Given the description of an element on the screen output the (x, y) to click on. 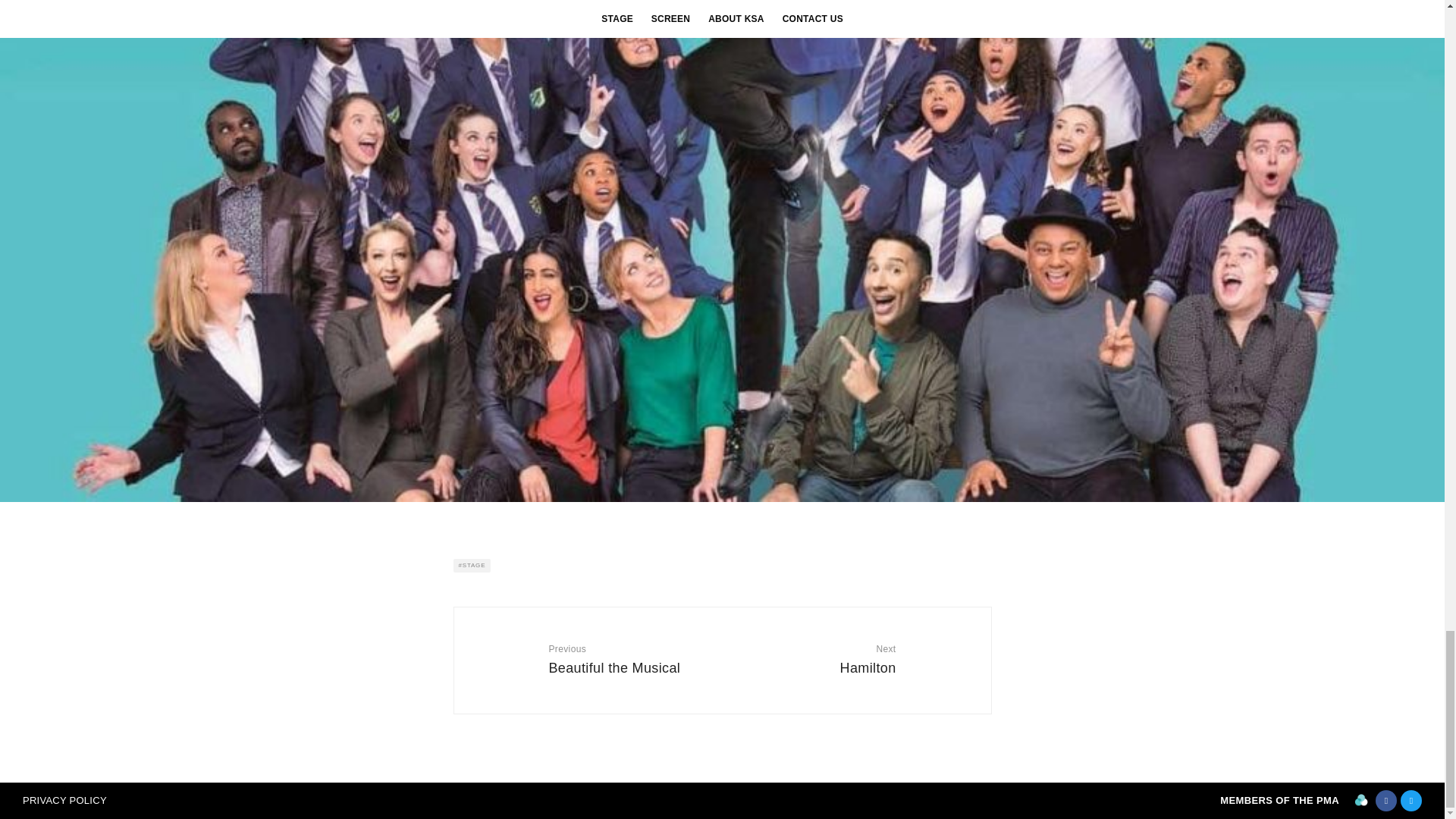
PRIVACY POLICY (64, 799)
STAGE (629, 658)
